Given the description of an element on the screen output the (x, y) to click on. 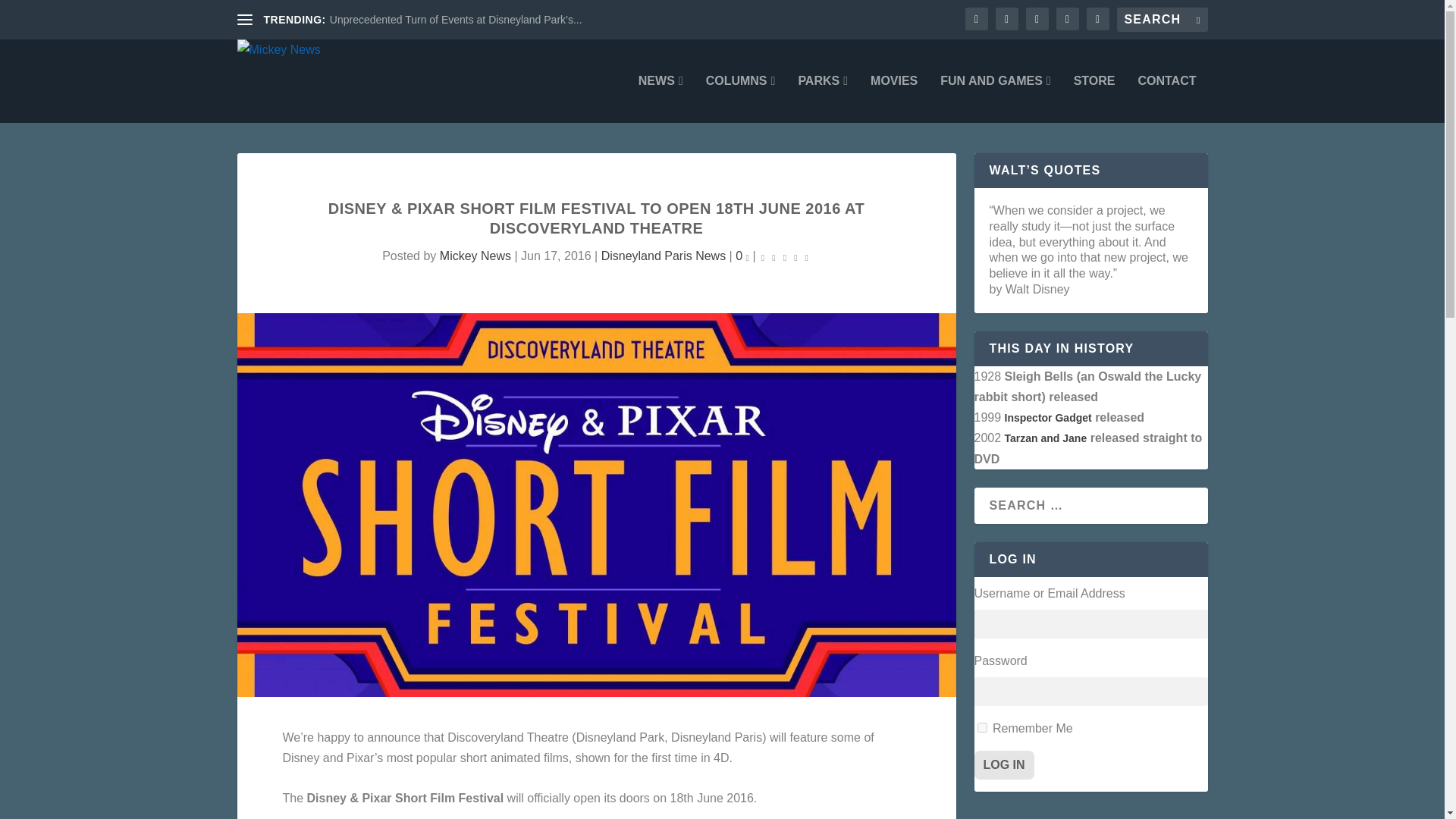
Rating: 0.00 (784, 256)
Search for: (1161, 19)
PARKS (822, 98)
NEWS (660, 98)
forever (981, 727)
Posts by Mickey News (475, 255)
COLUMNS (741, 98)
